Given the description of an element on the screen output the (x, y) to click on. 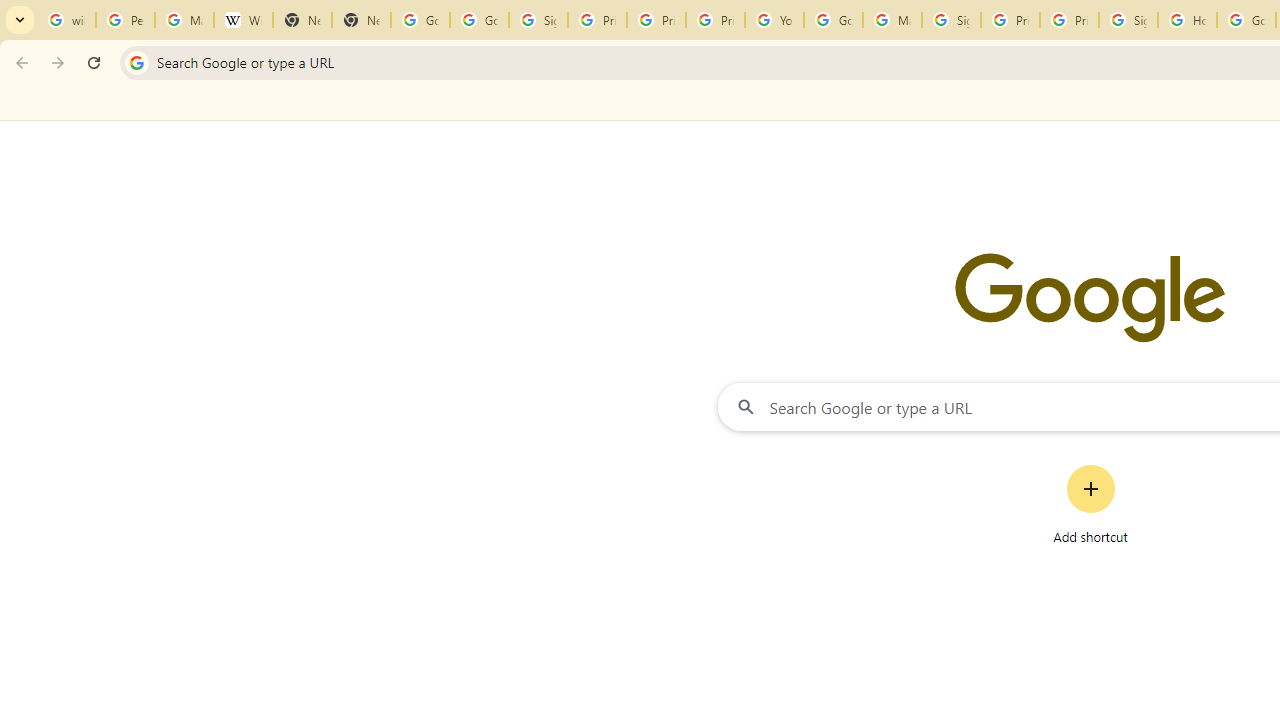
Sign in - Google Accounts (538, 20)
Google Account Help (832, 20)
YouTube (774, 20)
Personalization & Google Search results - Google Search Help (125, 20)
